Given the description of an element on the screen output the (x, y) to click on. 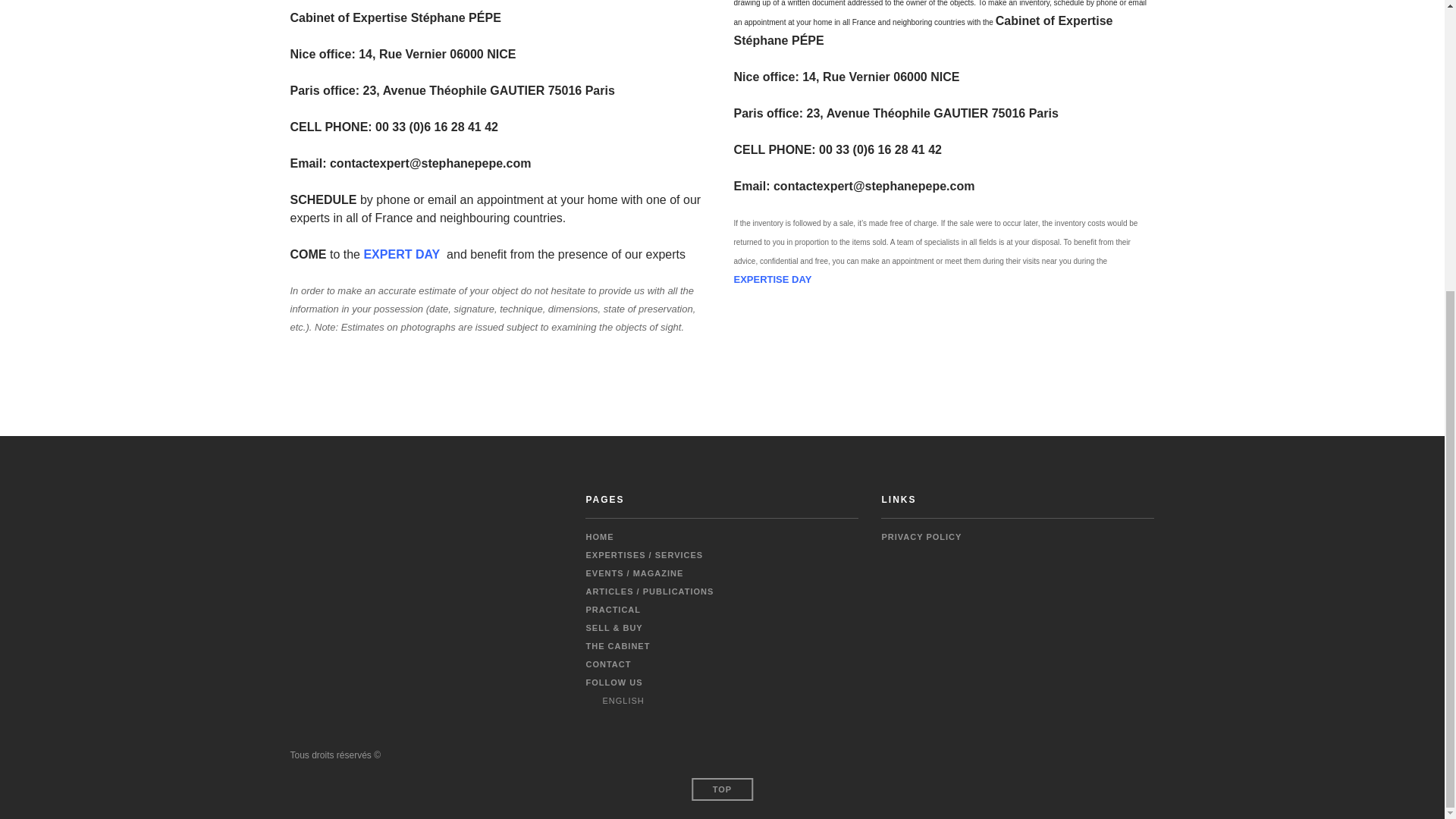
HOME (598, 536)
THE CABINET (617, 645)
EXPERT DAY (400, 254)
CONTACT (607, 664)
EXPERTISE DAY (772, 279)
ENGLISH (614, 700)
FOLLOW US (613, 682)
PRACTICAL (612, 609)
